Given the description of an element on the screen output the (x, y) to click on. 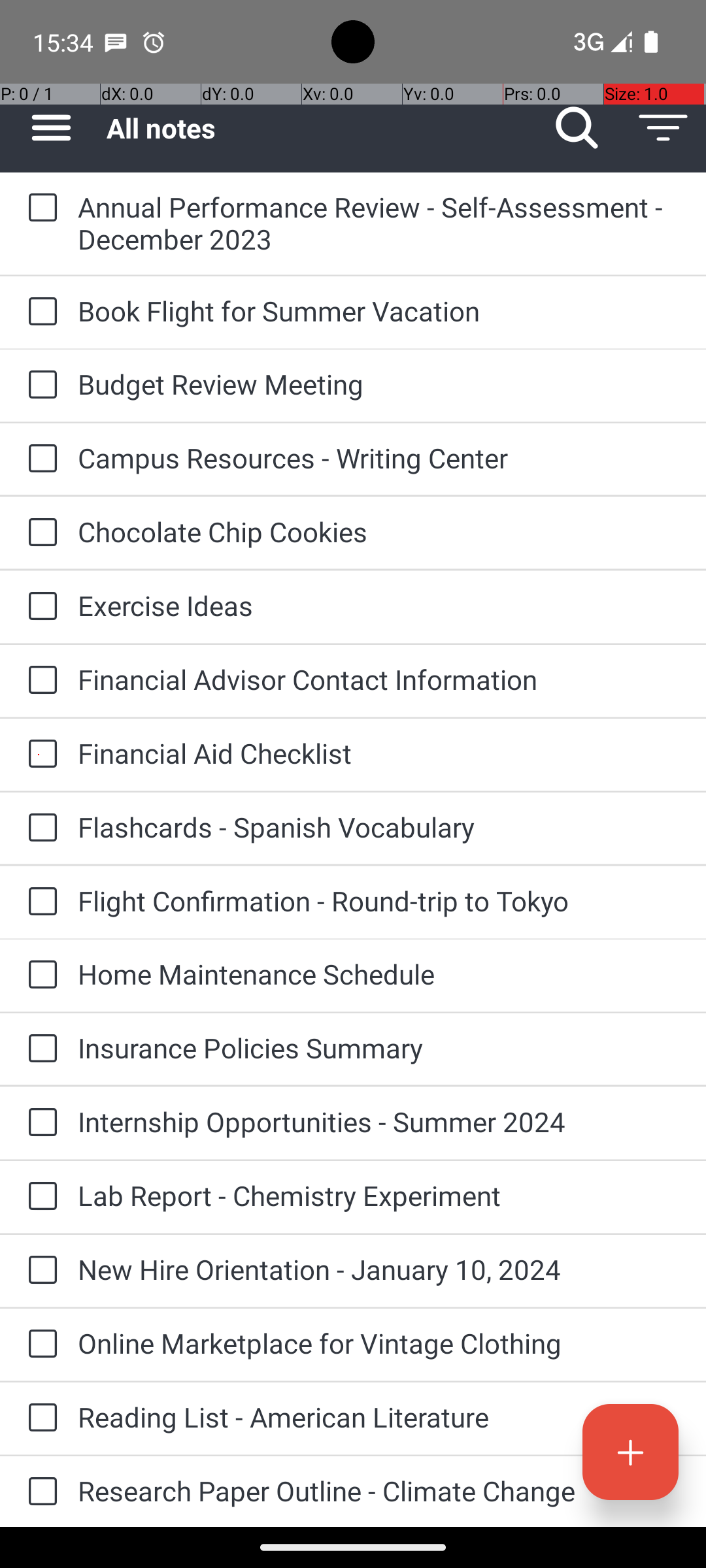
to-do: Book Flight for Summer Vacation Element type: android.widget.CheckBox (38, 312)
Book Flight for Summer Vacation Element type: android.widget.TextView (378, 310)
to-do: Budget Review Meeting Element type: android.widget.CheckBox (38, 385)
Budget Review Meeting Element type: android.widget.TextView (378, 383)
to-do: Campus Resources - Writing Center Element type: android.widget.CheckBox (38, 459)
Campus Resources - Writing Center Element type: android.widget.TextView (378, 457)
to-do: Chocolate Chip Cookies Element type: android.widget.CheckBox (38, 533)
Chocolate Chip Cookies Element type: android.widget.TextView (378, 531)
to-do: Exercise Ideas Element type: android.widget.CheckBox (38, 606)
Exercise Ideas Element type: android.widget.TextView (378, 604)
to-do: Financial Aid Checklist Element type: android.widget.CheckBox (38, 754)
to-do: Flashcards - Spanish Vocabulary Element type: android.widget.CheckBox (38, 828)
Flashcards - Spanish Vocabulary Element type: android.widget.TextView (378, 826)
to-do: Flight Confirmation - Round-trip to Tokyo Element type: android.widget.CheckBox (38, 902)
to-do: Home Maintenance Schedule Element type: android.widget.CheckBox (38, 975)
Home Maintenance Schedule Element type: android.widget.TextView (378, 973)
to-do: Insurance Policies Summary Element type: android.widget.CheckBox (38, 1049)
Insurance Policies Summary Element type: android.widget.TextView (378, 1047)
to-do: Internship Opportunities - Summer 2024 Element type: android.widget.CheckBox (38, 1123)
Internship Opportunities - Summer 2024 Element type: android.widget.TextView (378, 1121)
to-do: Lab Report - Chemistry Experiment Element type: android.widget.CheckBox (38, 1196)
Lab Report - Chemistry Experiment Element type: android.widget.TextView (378, 1194)
to-do: New Hire Orientation - January 10, 2024 Element type: android.widget.CheckBox (38, 1270)
New Hire Orientation - January 10, 2024 Element type: android.widget.TextView (378, 1268)
to-do: Reading List - American Literature Element type: android.widget.CheckBox (38, 1418)
Reading List - American Literature Element type: android.widget.TextView (378, 1416)
to-do: Research Paper Outline - Climate Change Element type: android.widget.CheckBox (38, 1491)
Research Paper Outline - Climate Change Element type: android.widget.TextView (378, 1490)
